Given the description of an element on the screen output the (x, y) to click on. 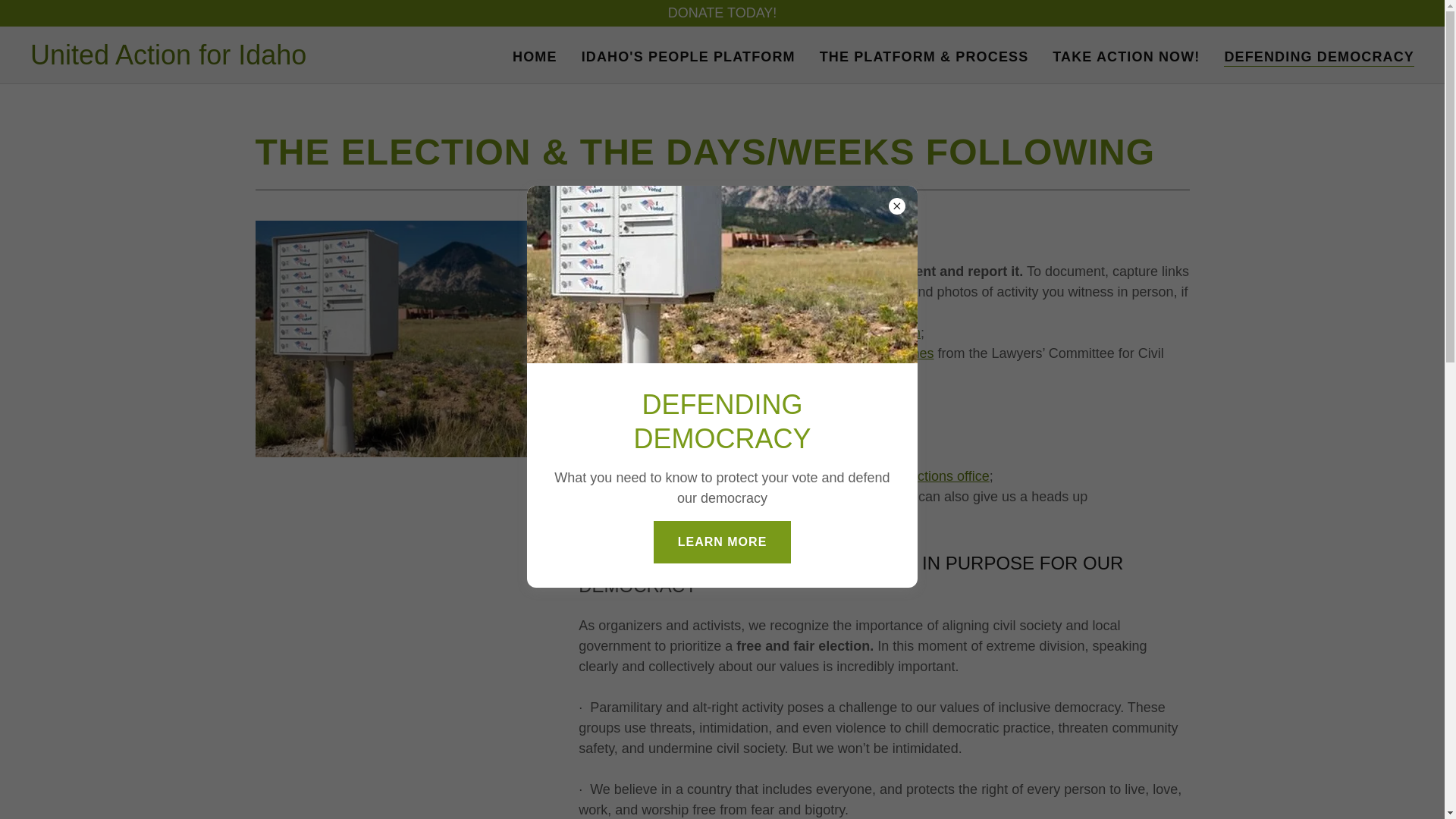
United Action for Idaho (167, 59)
LEARN MORE (722, 541)
DEFENDING DEMOCRACY (1318, 56)
HOME (535, 56)
local elections office (928, 476)
The ACLU advises (646, 476)
IDAHO'S PEOPLE PLATFORM (687, 56)
TAKE ACTION NOW! (1126, 56)
this form (893, 332)
nationwide, nonpartisan voter protection hotlines (786, 353)
United Action for Idaho (167, 59)
